Given the description of an element on the screen output the (x, y) to click on. 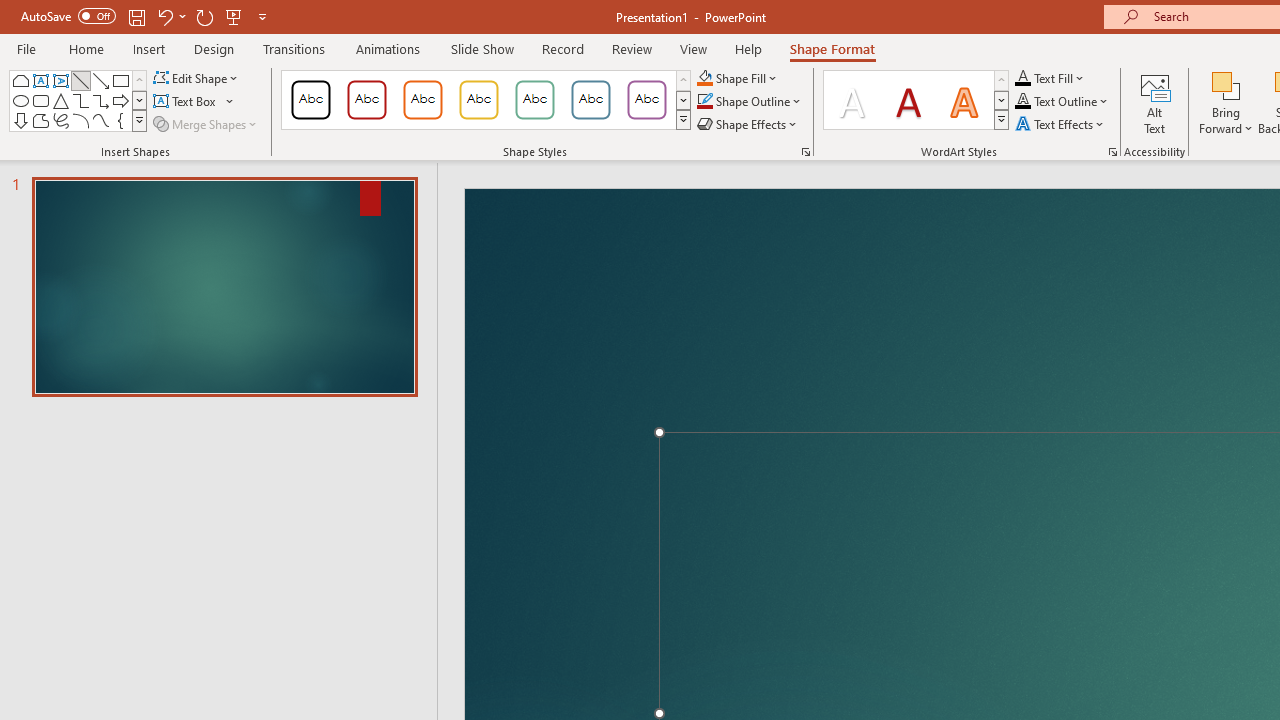
Text Fill RGB(0, 0, 0) (1023, 78)
AutomationID: ShapesInsertGallery (78, 100)
Fill: White, Text color 1; Shadow (852, 100)
Freeform: Scribble (60, 120)
Colored Outline - Blue-Gray, Accent 5 (591, 100)
Alt Text (1155, 102)
Curve (100, 120)
AutomationID: ShapeStylesGallery (486, 99)
Arrow: Down (20, 120)
Text Effects (1061, 124)
Connector: Elbow Arrow (100, 100)
